Given the description of an element on the screen output the (x, y) to click on. 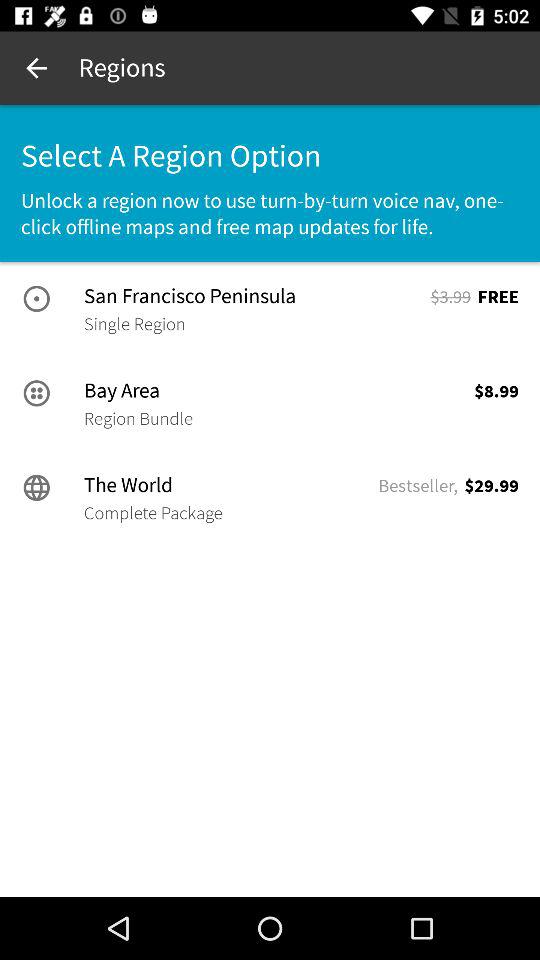
tap item to the left of $3.99 icon (255, 296)
